Given the description of an element on the screen output the (x, y) to click on. 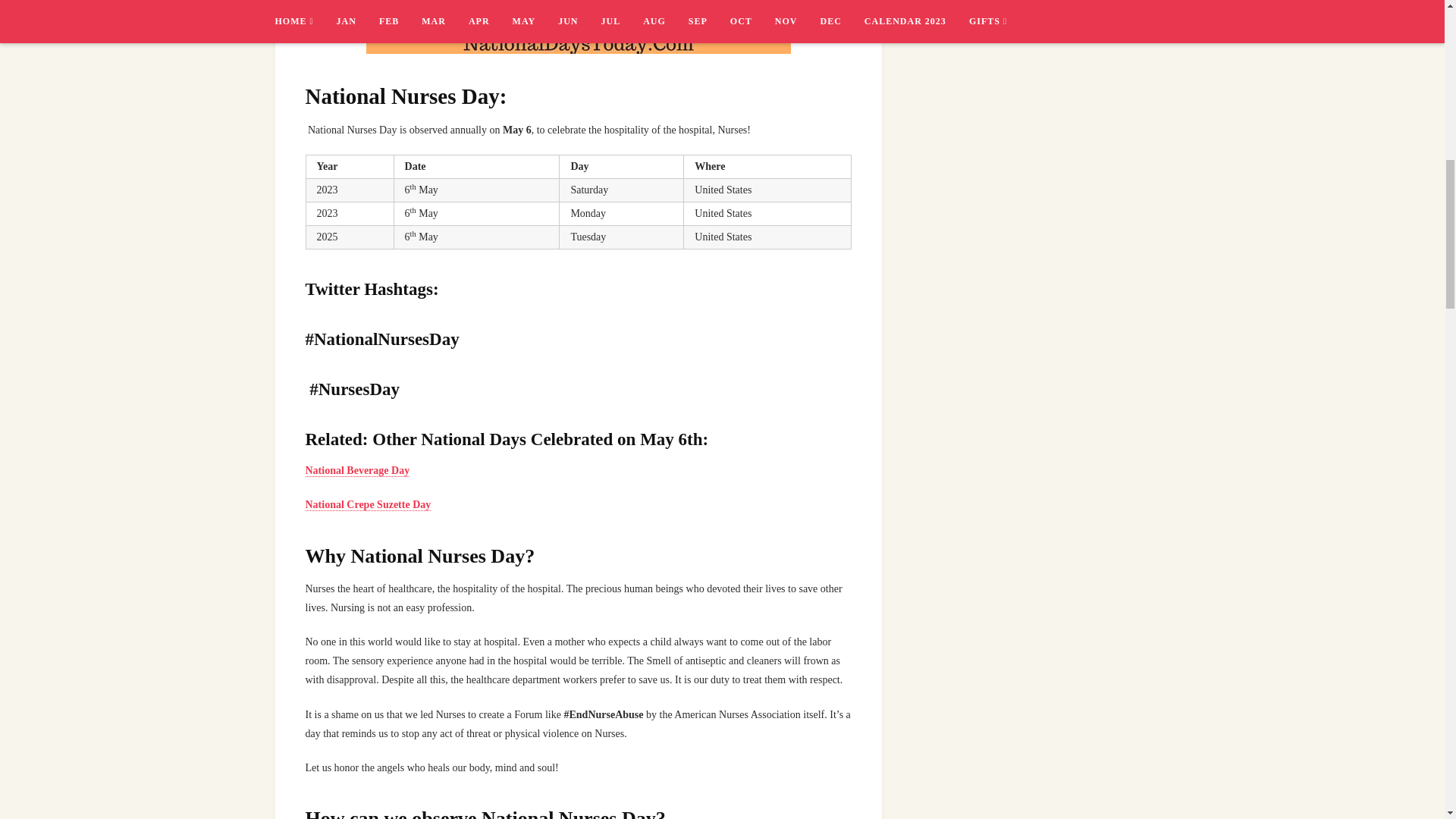
National Beverage Day (356, 470)
National Crepe Suzette Day (367, 504)
